Given the description of an element on the screen output the (x, y) to click on. 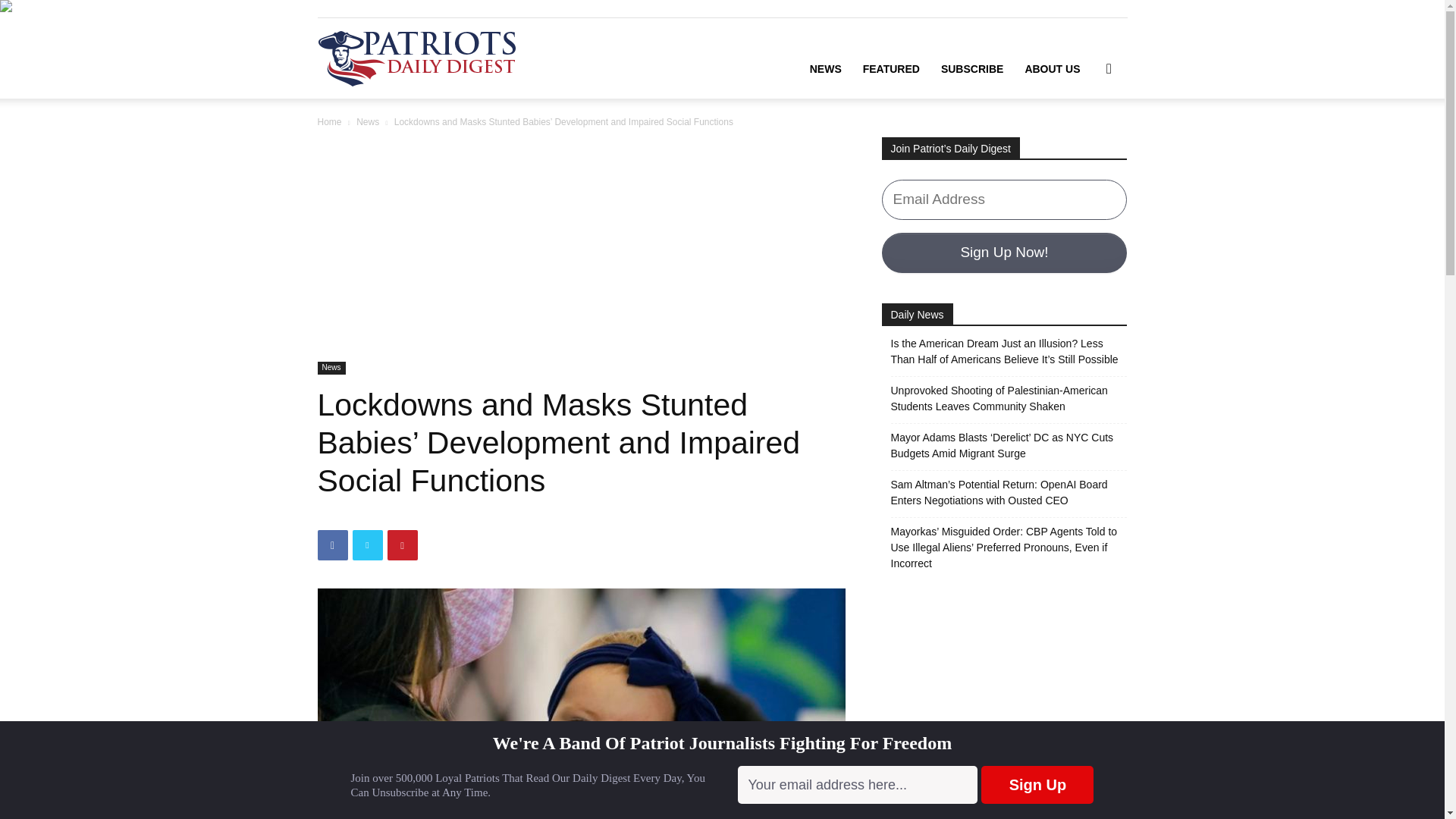
Home (328, 122)
FEATURED (890, 68)
View all posts in News (367, 122)
ABOUT US (1051, 68)
News (367, 122)
Sign Up Now! (1003, 252)
Search (1085, 140)
Advertisement (580, 249)
Patriot's Daily Digest (416, 58)
SUBSCRIBE (971, 68)
News (331, 367)
Sign Up (1037, 784)
NEWS (825, 68)
